Given the description of an element on the screen output the (x, y) to click on. 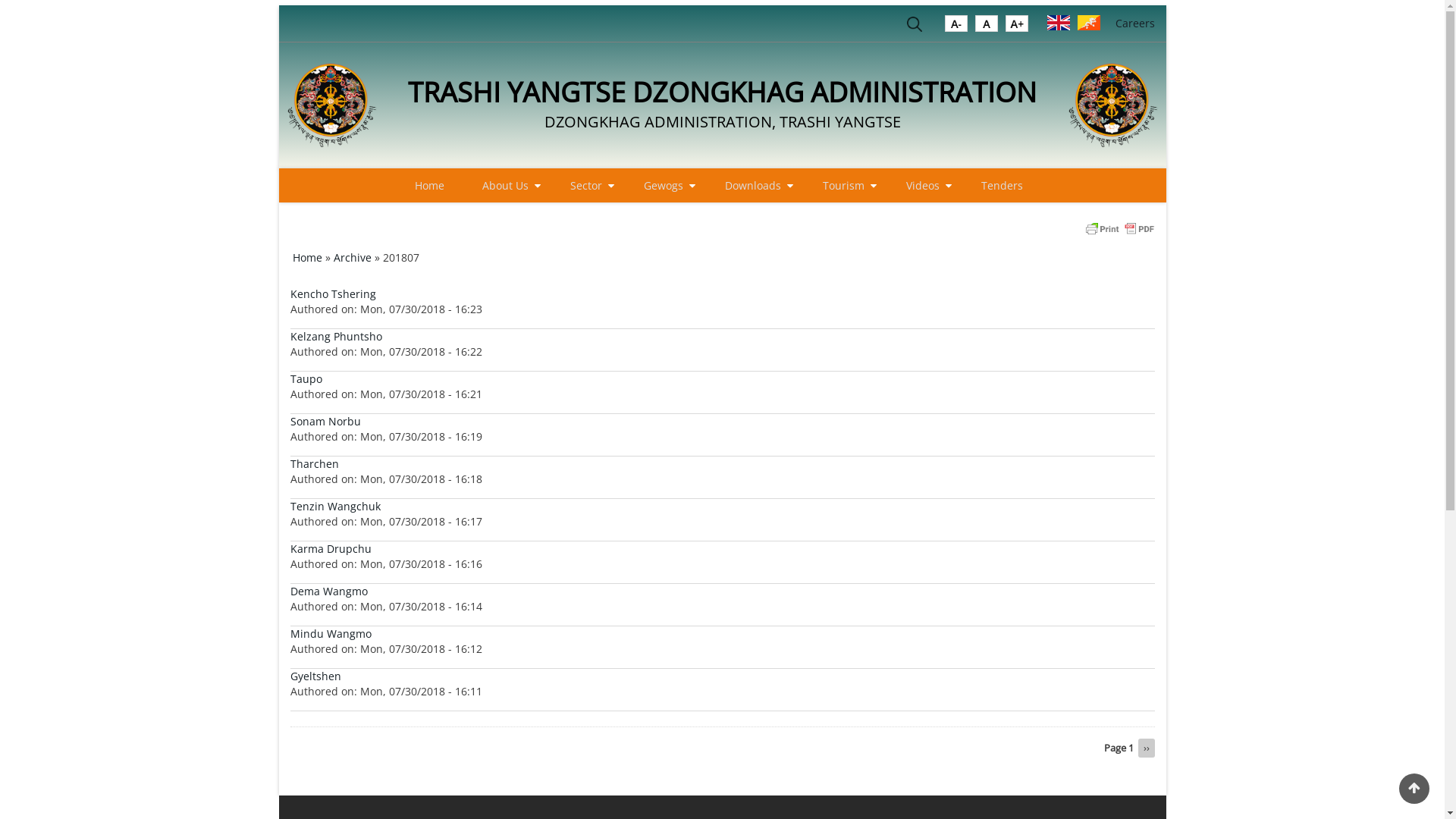
Home Element type: hover (331, 105)
About Us Element type: text (507, 185)
Taupo Element type: text (305, 378)
Home Element type: text (307, 257)
A Element type: text (986, 26)
Kelzang Phuntsho Element type: text (335, 336)
Skip to main content Element type: text (0, 0)
Tenzin Wangchuk Element type: text (334, 505)
Dema Wangmo Element type: text (328, 590)
Tharchen Element type: text (313, 463)
Back to Top Element type: hover (1414, 788)
Kencho Tshering Element type: text (332, 293)
TRASHI YANGTSE DZONGKHAG ADMINISTRATION Element type: text (721, 91)
Sonam Norbu Element type: text (324, 421)
Tourism Element type: text (844, 185)
Printer Friendly, PDF & Email Element type: hover (1119, 227)
Archive Element type: text (352, 257)
Gewogs Element type: text (664, 185)
Karma Drupchu Element type: text (329, 548)
Search Element type: text (914, 26)
Downloads Element type: text (754, 185)
Videos Element type: text (923, 185)
Tenders Element type: text (1002, 185)
Home Element type: hover (1112, 105)
Sector Element type: text (588, 185)
Home Element type: text (428, 185)
A Element type: text (955, 26)
Careers Element type: text (1134, 22)
Mindu Wangmo Element type: text (329, 633)
A Element type: text (1016, 26)
Gyeltshen Element type: text (314, 675)
